Given the description of an element on the screen output the (x, y) to click on. 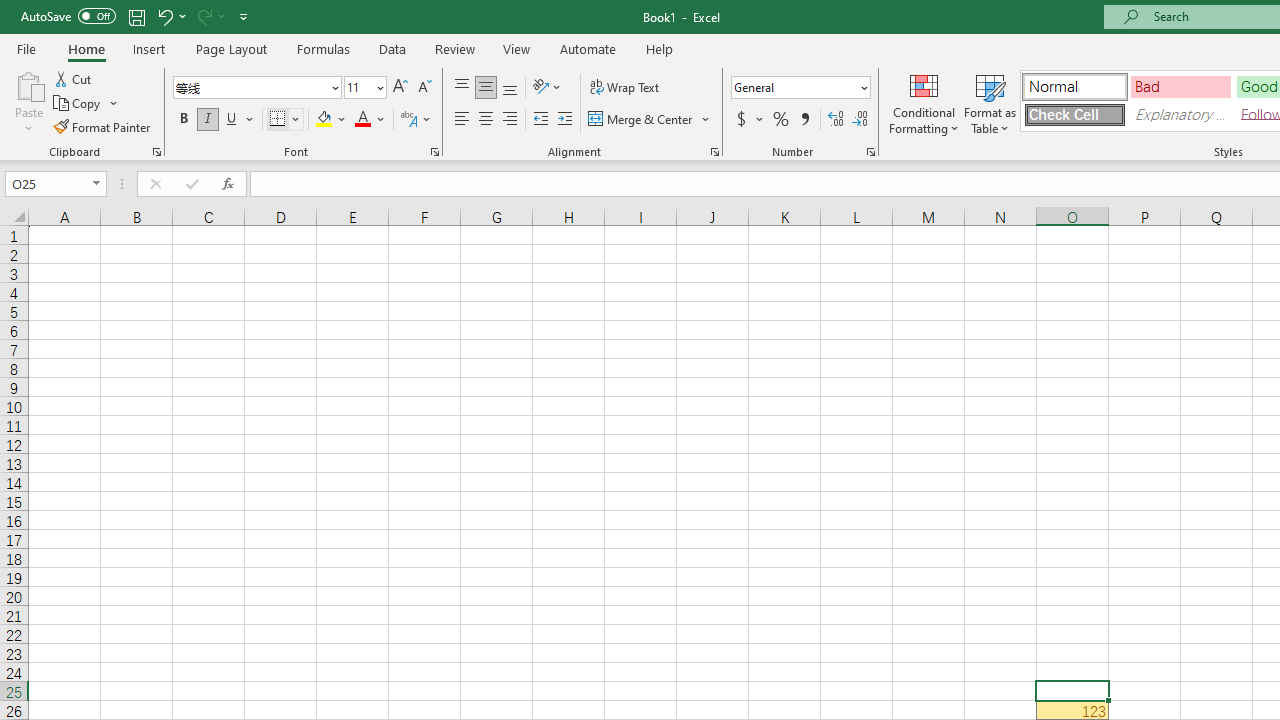
Font (256, 87)
Align Left (461, 119)
Wrap Text (624, 87)
Font Color RGB(255, 0, 0) (362, 119)
Decrease Indent (540, 119)
Paste (28, 84)
Orientation (547, 87)
Show Phonetic Field (416, 119)
